Given the description of an element on the screen output the (x, y) to click on. 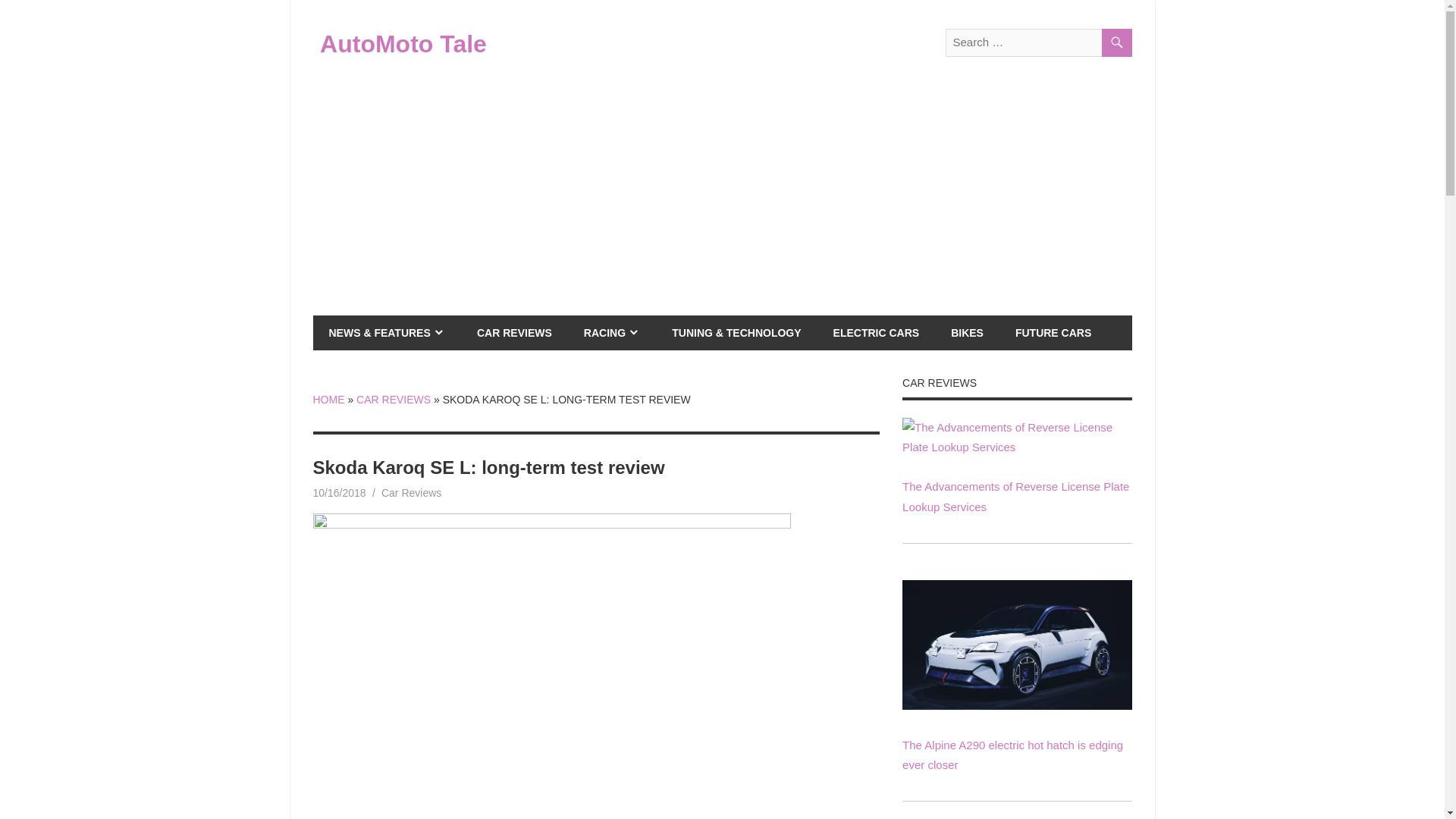
View all posts by mediabest (403, 492)
The Alpine A290 electric hot hatch is edging ever closer (1012, 754)
ELECTRIC CARS (876, 332)
The Alpine A290 electric hot hatch is edging ever closer (1016, 705)
The Advancements of Reverse License Plate Lookup Services (1016, 446)
mediabest (403, 492)
CAR REVIEWS (514, 332)
BIKES (966, 332)
15:04 (339, 492)
Search for: (1037, 42)
The Alpine A290 electric hot hatch is edging ever closer (1016, 644)
CAR REVIEWS (393, 399)
FUTURE CARS (1052, 332)
HOME (328, 399)
